Given the description of an element on the screen output the (x, y) to click on. 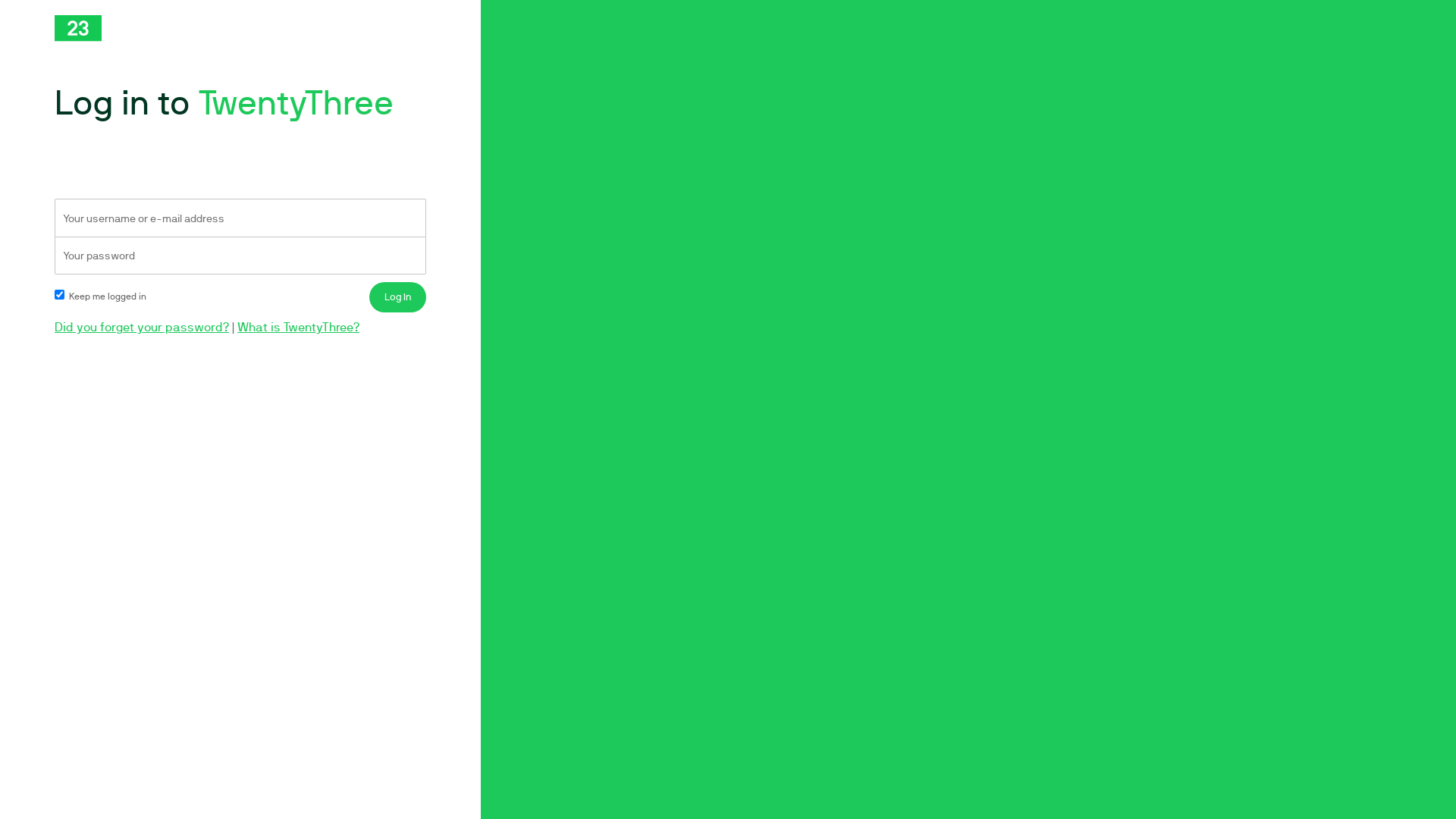
Did you forget your password? Element type: text (141, 327)
What is TwentyThree? Element type: text (298, 327)
Log In Element type: text (397, 297)
